Given the description of an element on the screen output the (x, y) to click on. 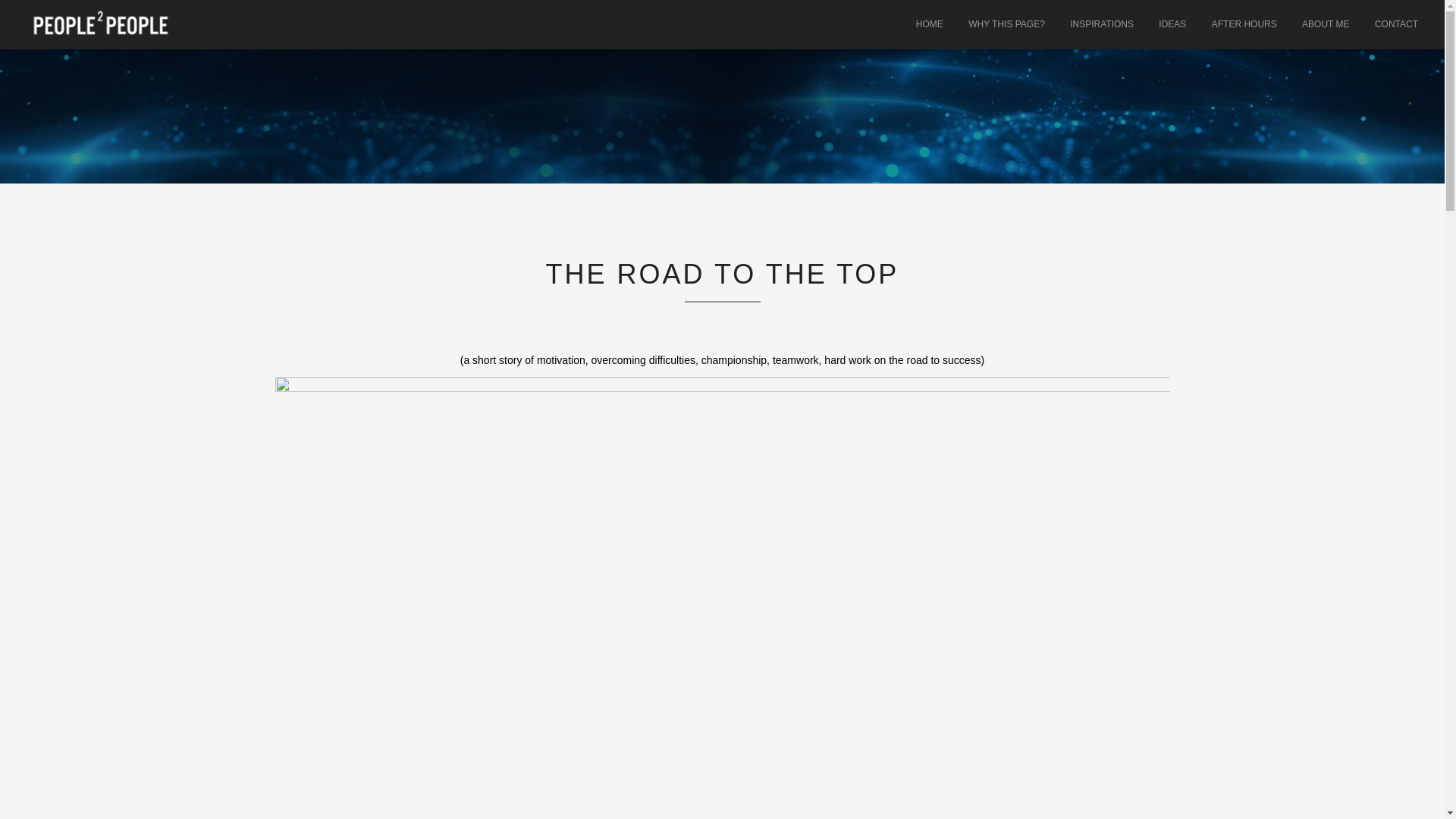
CONTACT (1395, 24)
IDEAS (1171, 24)
AFTER HOURS (1243, 24)
WHY THIS PAGE? (1006, 24)
INSPIRATIONS (1101, 24)
HOME (929, 24)
Inspirations (1101, 24)
ABOUT ME (1324, 24)
